Given the description of an element on the screen output the (x, y) to click on. 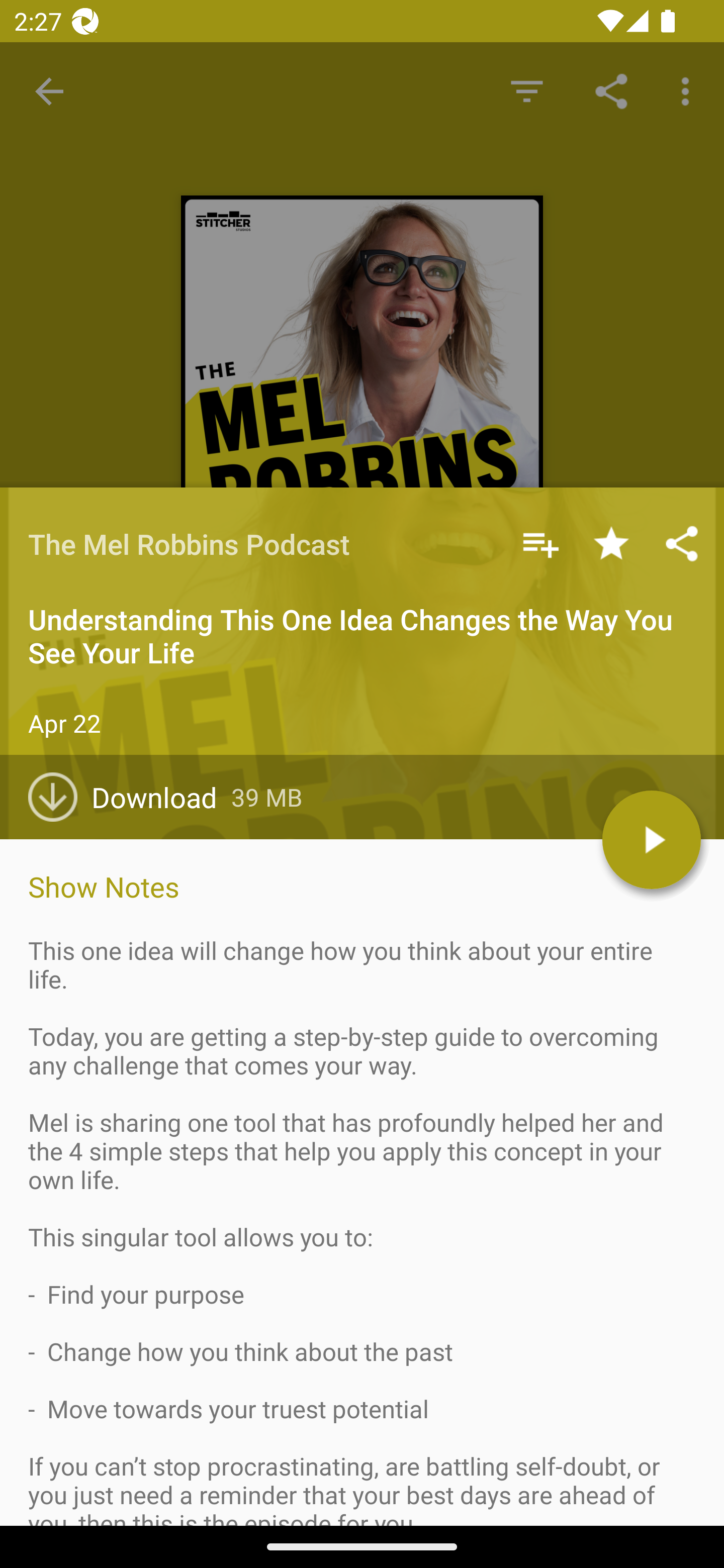
Download (129, 797)
